Given the description of an element on the screen output the (x, y) to click on. 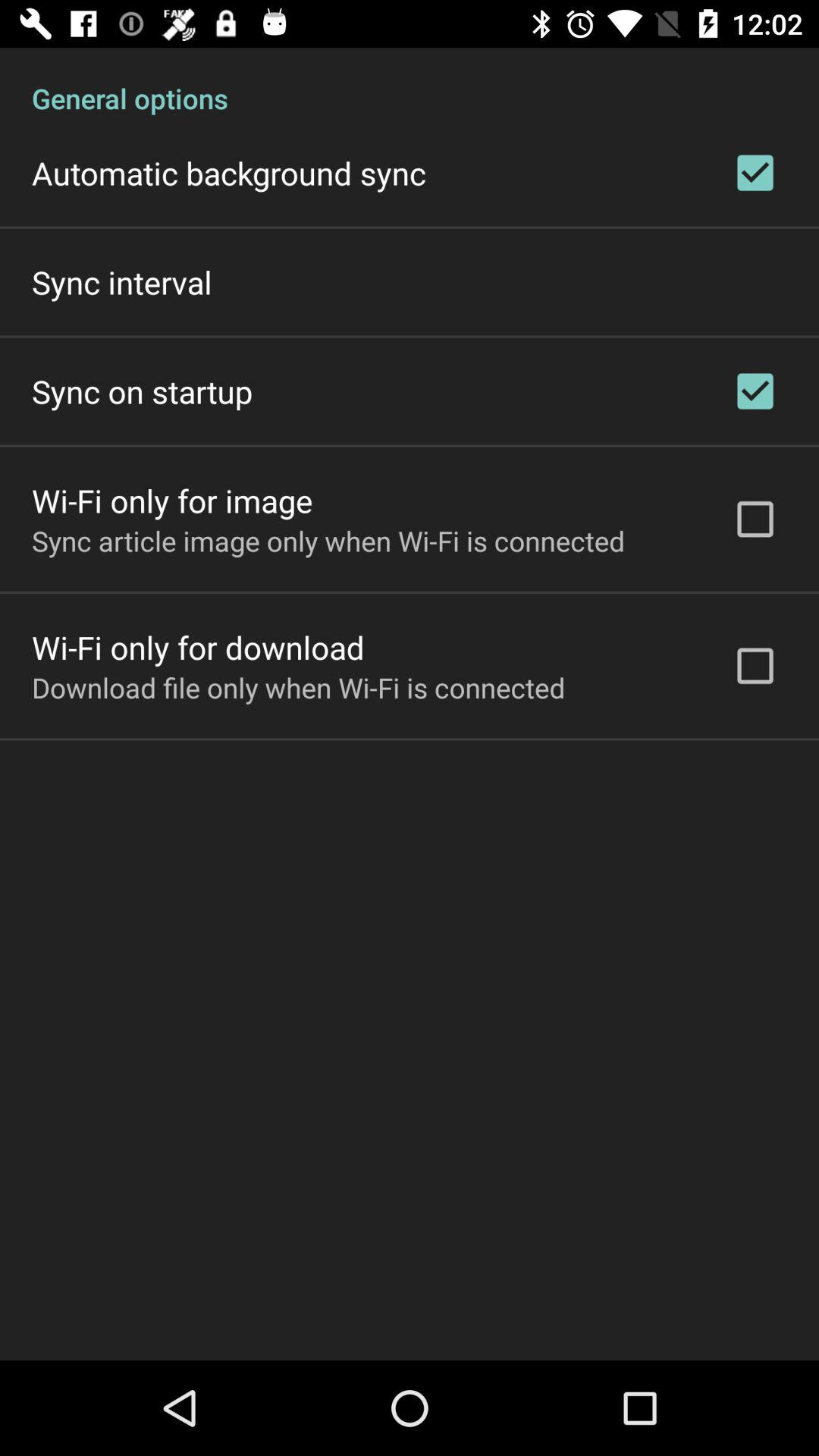
open icon below the automatic background sync icon (121, 281)
